Given the description of an element on the screen output the (x, y) to click on. 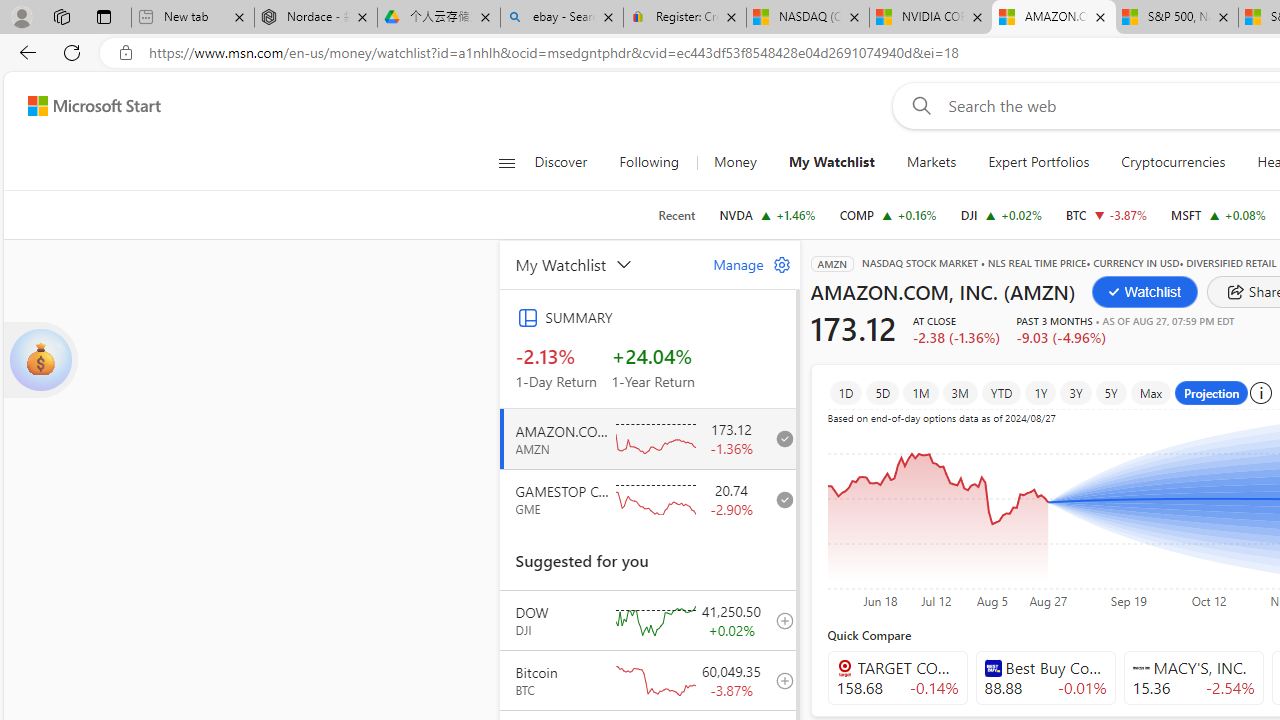
Class: autoSuggestIcon-DS-EntryPoint1-1 (1140, 667)
DJI DOW increase 41,250.50 +9.98 +0.02% (1000, 214)
Max (1151, 392)
Open navigation menu (506, 162)
S&P 500, Nasdaq end lower, weighed by Nvidia dip | Watch (1176, 17)
Watchlist (1144, 291)
Markets (931, 162)
Discover (560, 162)
Expert Portfolios (1039, 162)
Microsoft Start (94, 105)
Discover (568, 162)
